Given the description of an element on the screen output the (x, y) to click on. 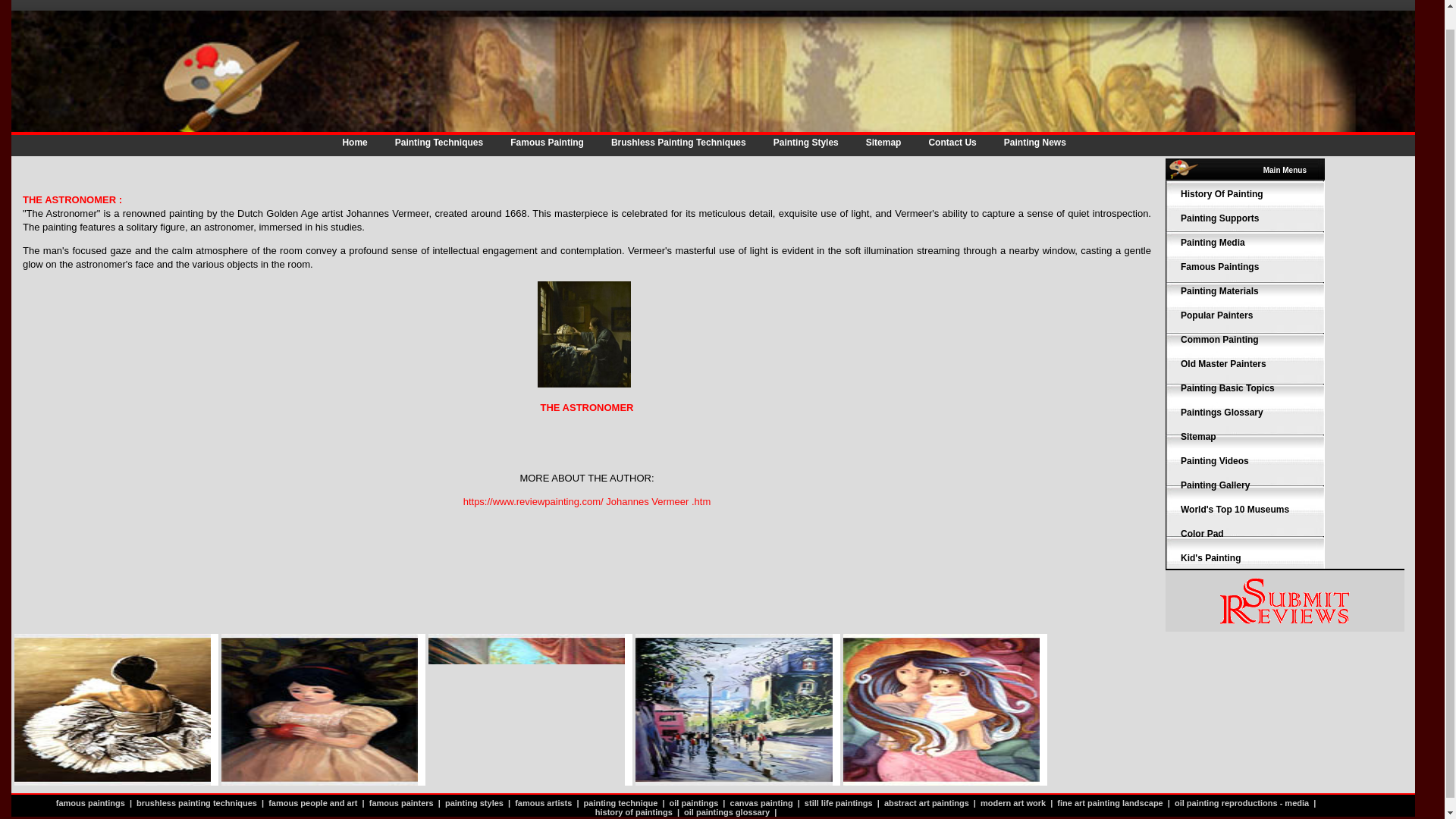
Painting Videos (1214, 460)
World's Top 10 Museums (1234, 509)
Paintings Glossary (1221, 412)
Painting Basic Topics (1227, 388)
Famous Painting (546, 142)
Painting Styles (805, 142)
Brushless painting techniques (678, 142)
Contact Us (951, 142)
Painting Styles (805, 142)
Famous Paintings (1219, 266)
Reviewpainting Sitemap (883, 142)
Painting Styles (1219, 217)
Painting Media (1212, 242)
Sitemap (883, 142)
Popular Painters (1216, 315)
